Given the description of an element on the screen output the (x, y) to click on. 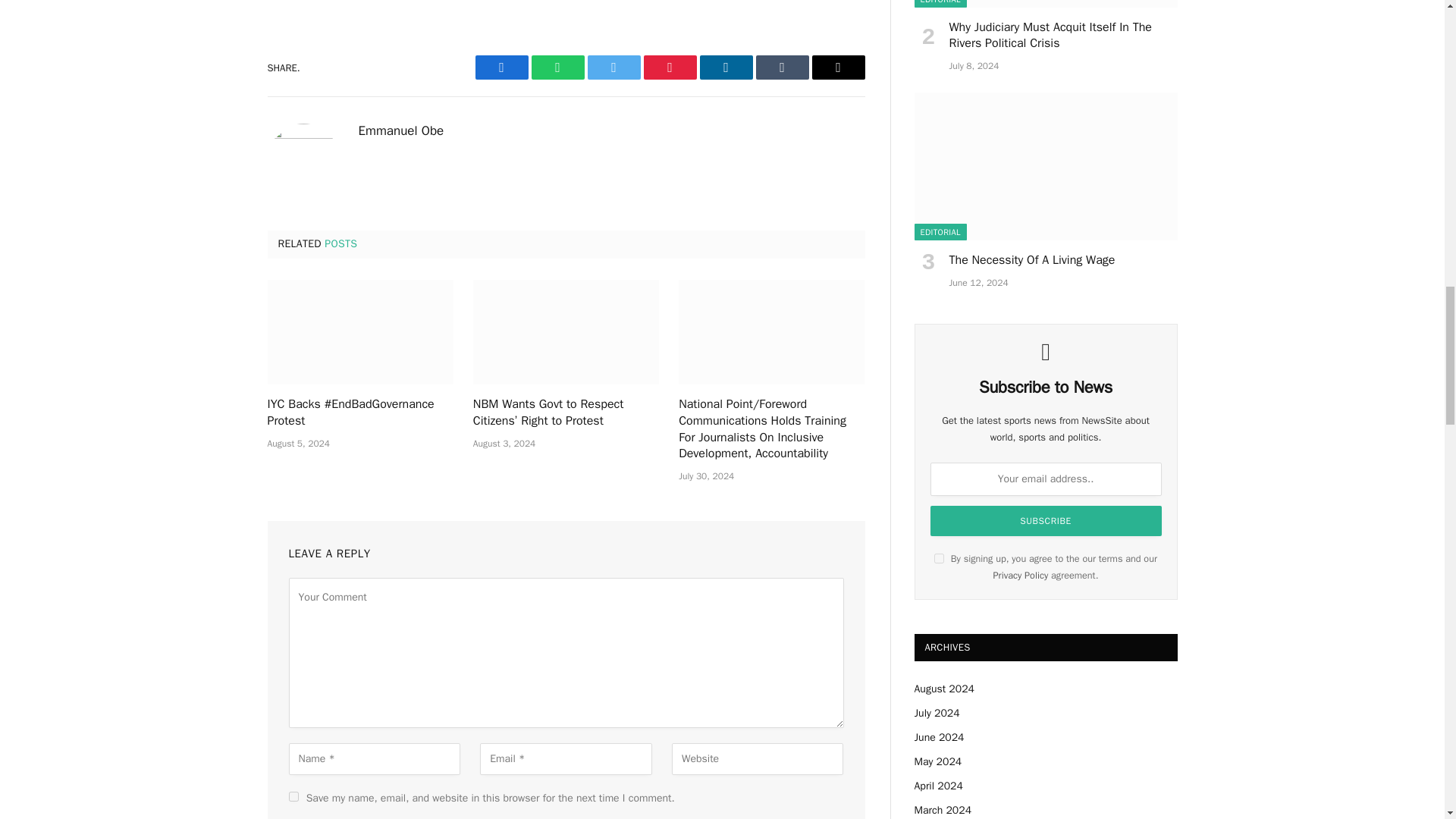
Subscribe (1045, 521)
on (938, 558)
yes (293, 796)
